Given the description of an element on the screen output the (x, y) to click on. 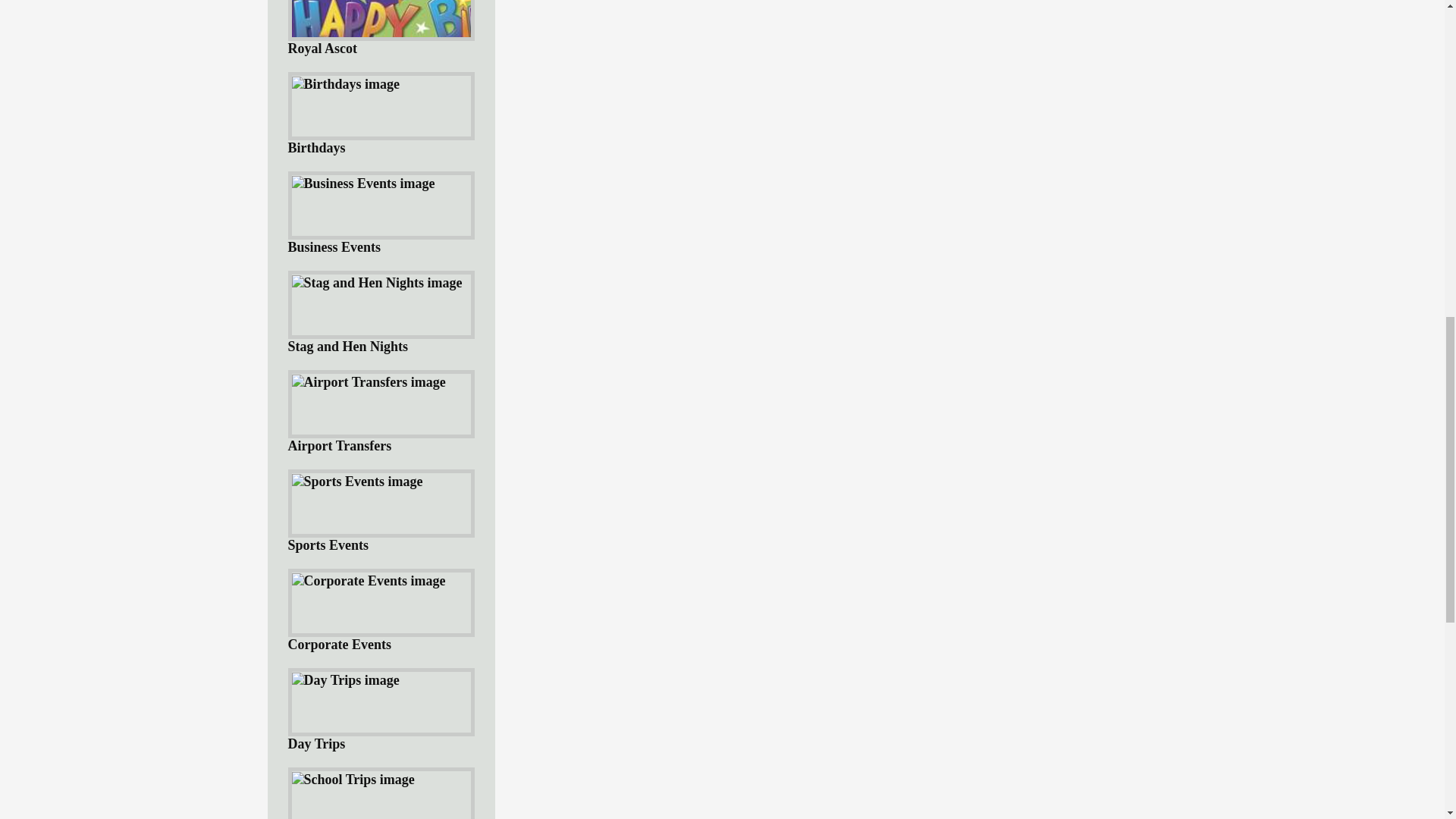
Birthdays image (344, 84)
Day Trips image (344, 680)
Royal Ascot image (380, 31)
Business Events (381, 213)
School Trips image (352, 779)
Stag and Hen Nights (381, 312)
Airport Transfers image (368, 382)
Business Events image (362, 183)
Sports Events (381, 511)
Corporate Events image (368, 580)
